Given the description of an element on the screen output the (x, y) to click on. 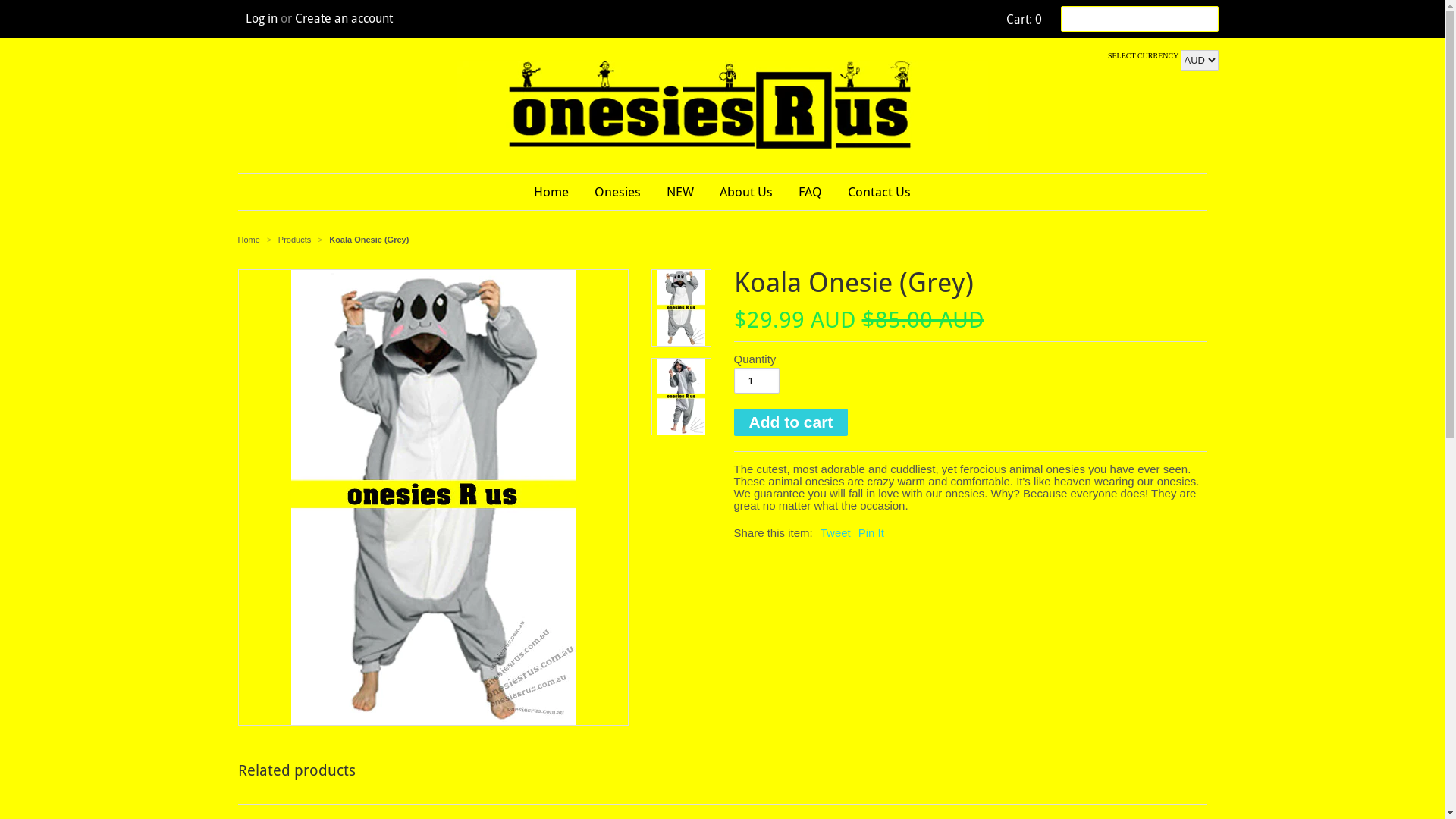
Onesies Element type: text (617, 191)
Pin It Element type: text (871, 532)
Log in Element type: text (261, 18)
Cart: 0 Element type: text (1021, 19)
Contact Us Element type: text (879, 191)
Create an account Element type: text (343, 18)
Home Element type: text (551, 191)
Products Element type: text (295, 239)
FAQ Element type: text (810, 191)
Tweet Element type: text (835, 532)
NEW Element type: text (680, 191)
About Us Element type: text (746, 191)
Add to cart Element type: text (791, 422)
Home Element type: text (249, 239)
